Given the description of an element on the screen output the (x, y) to click on. 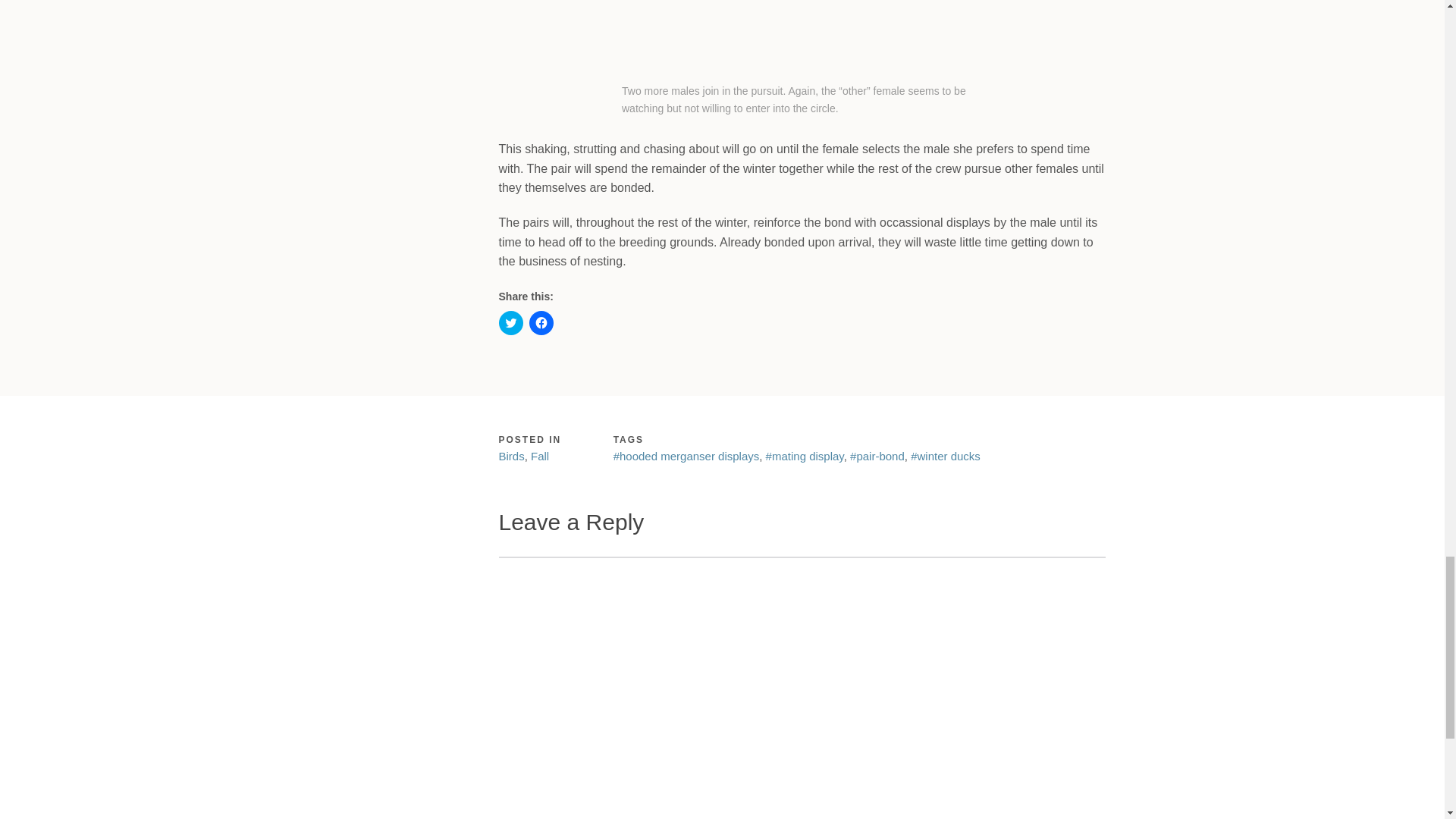
Click to share on Twitter (510, 322)
Birds (511, 455)
Click to share on Facebook (541, 322)
Fall (539, 455)
